Given the description of an element on the screen output the (x, y) to click on. 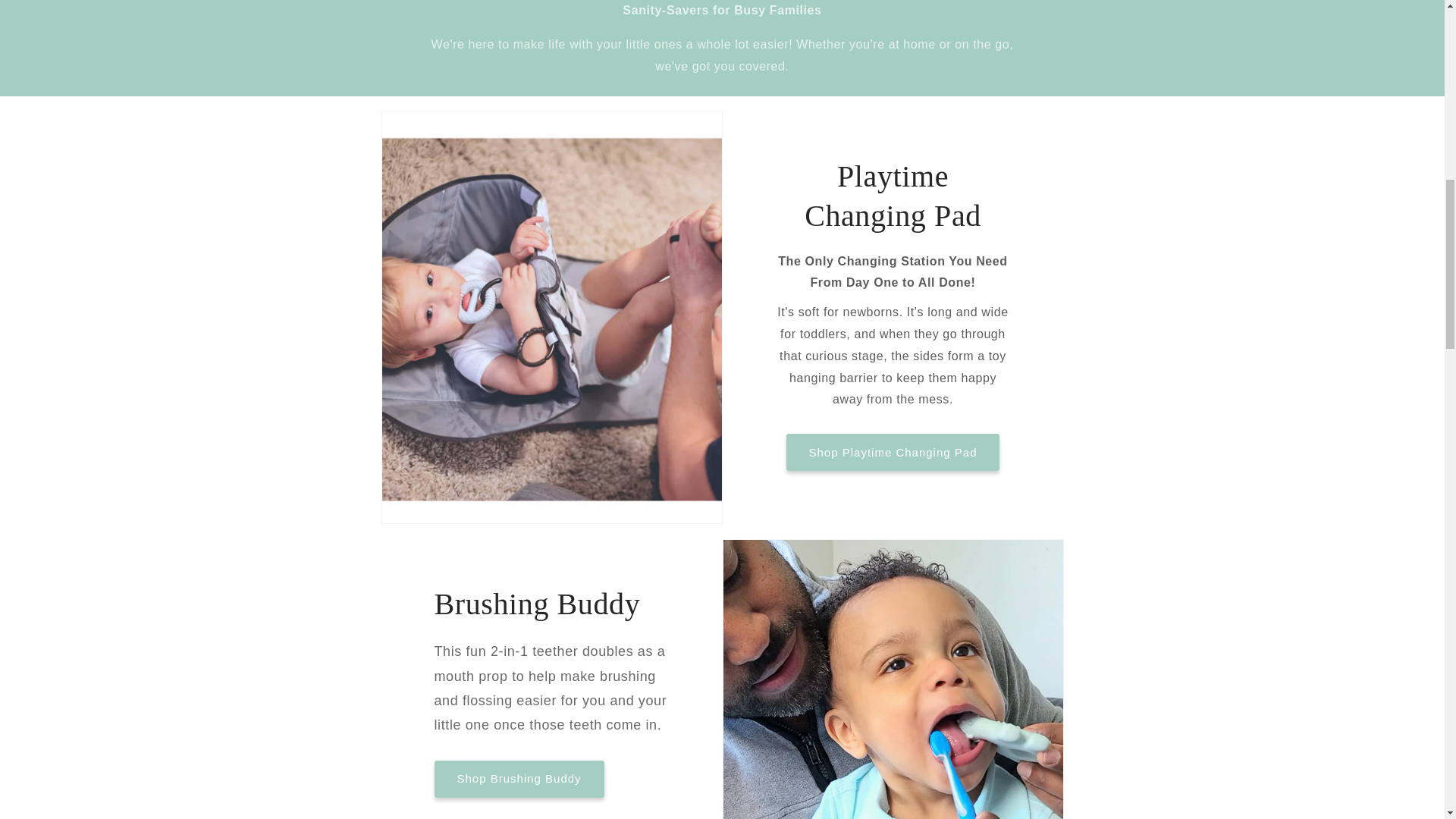
Shop Brushing Buddy (518, 778)
Shop Playtime Changing Pad (893, 452)
